Given the description of an element on the screen output the (x, y) to click on. 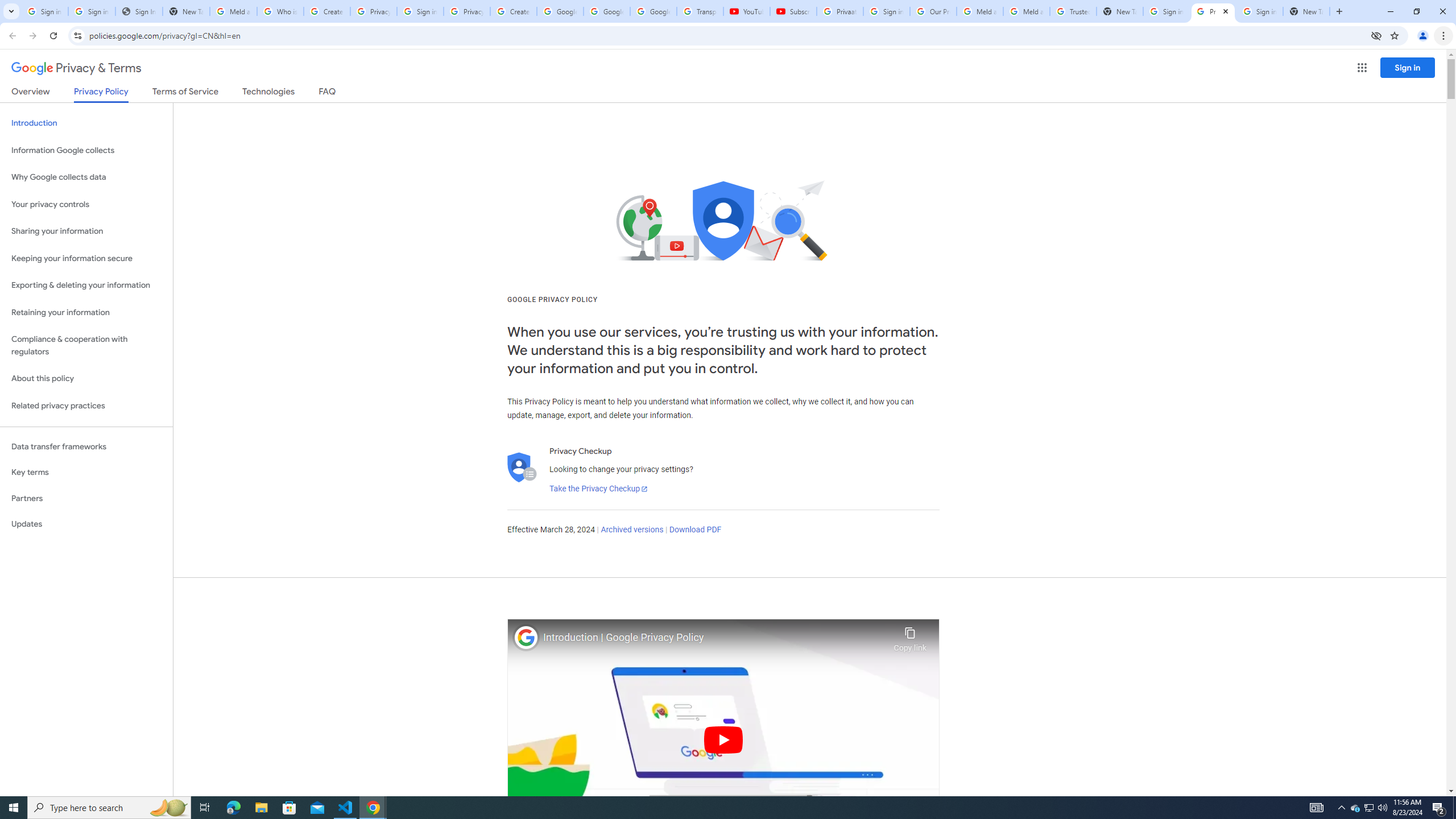
Who is my administrator? - Google Account Help (279, 11)
